Given the description of an element on the screen output the (x, y) to click on. 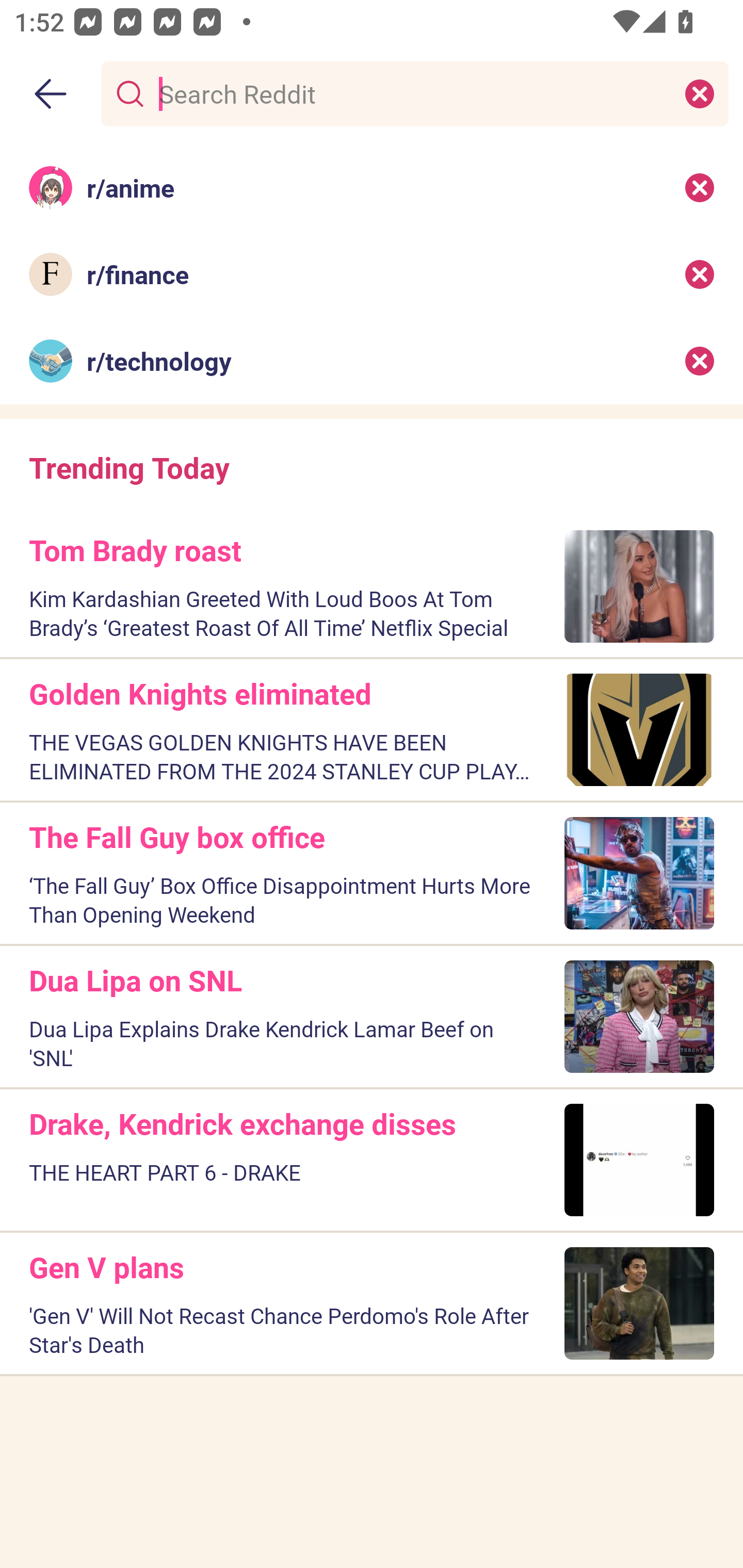
Back (50, 93)
Search Reddit (410, 93)
Clear search (699, 93)
r/anime Recent search: r/anime Remove (371, 187)
Remove (699, 187)
r/finance Recent search: r/finance Remove (371, 274)
Remove (699, 274)
r/technology Recent search: r/technology Remove (371, 361)
Remove (699, 361)
